Given the description of an element on the screen output the (x, y) to click on. 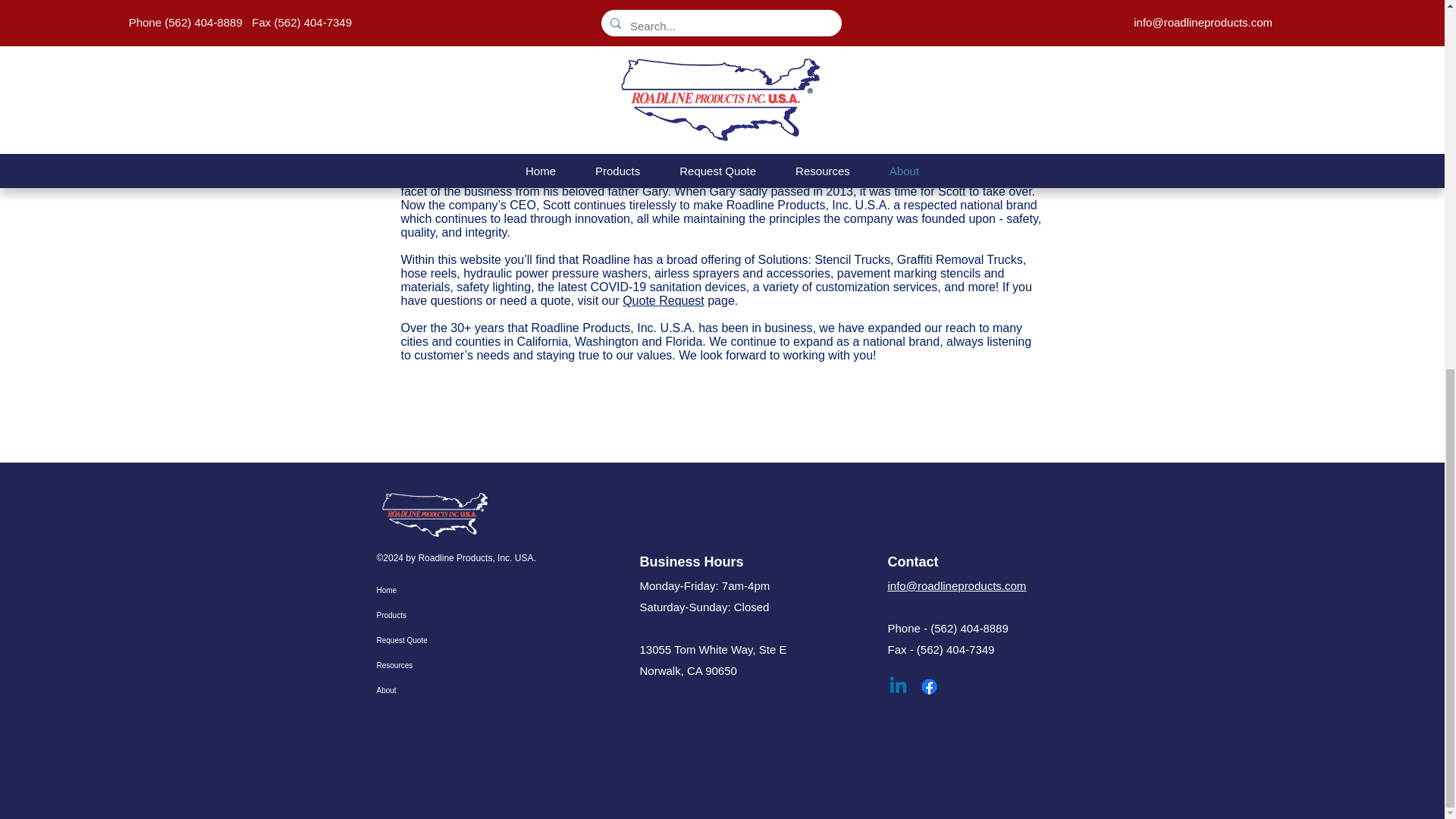
Resources (429, 664)
Request Quote (429, 640)
About (429, 690)
Quote Request (663, 300)
Products (429, 614)
Home (429, 590)
